Given the description of an element on the screen output the (x, y) to click on. 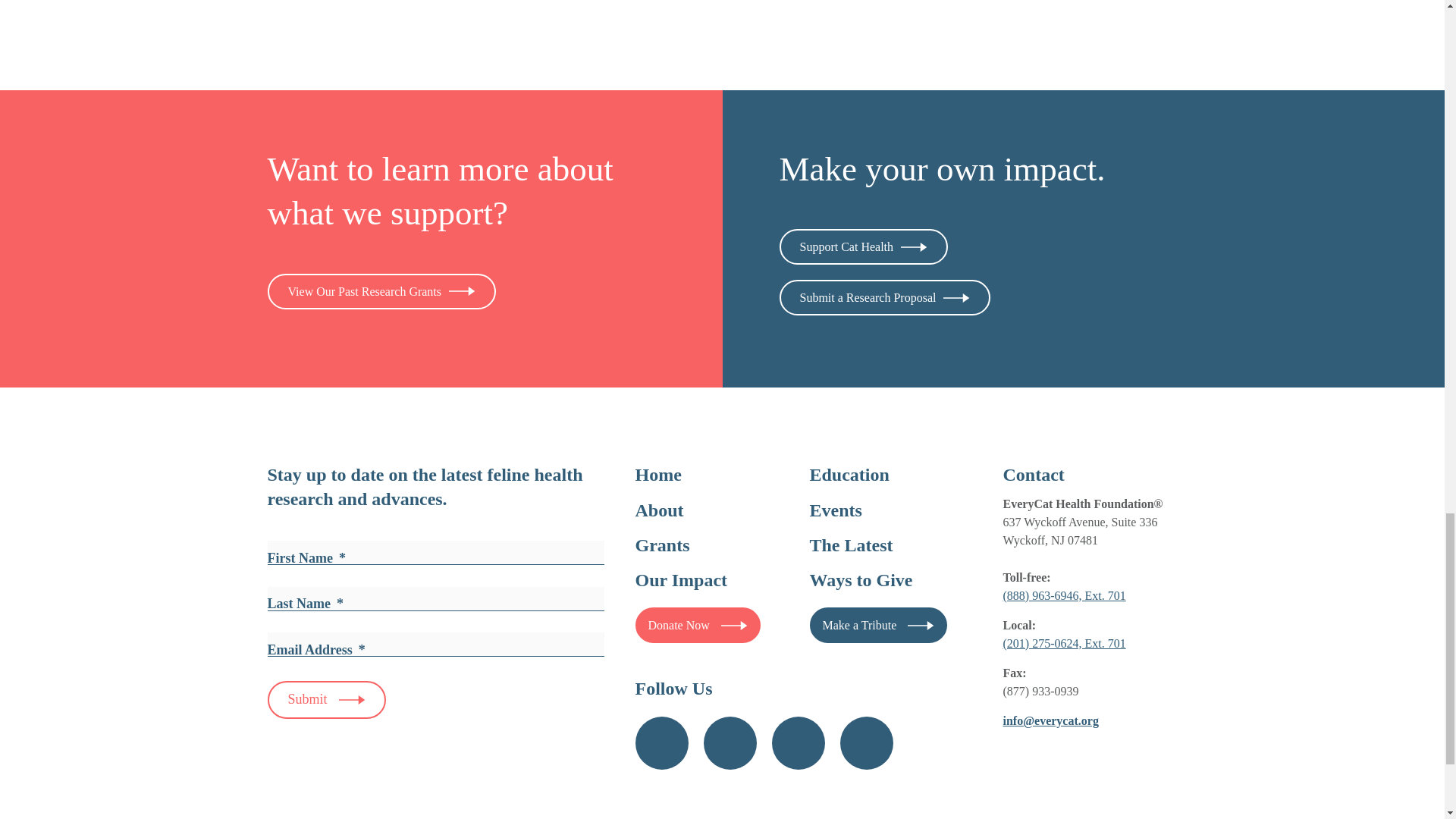
Link to Facebook (661, 742)
Link to YouTube (798, 742)
Link to Instagram (730, 742)
Link to Support Cat Health (863, 246)
Link to Submit a Research Proposal (884, 297)
Link to View Our Past Research Grants (381, 291)
